Given the description of an element on the screen output the (x, y) to click on. 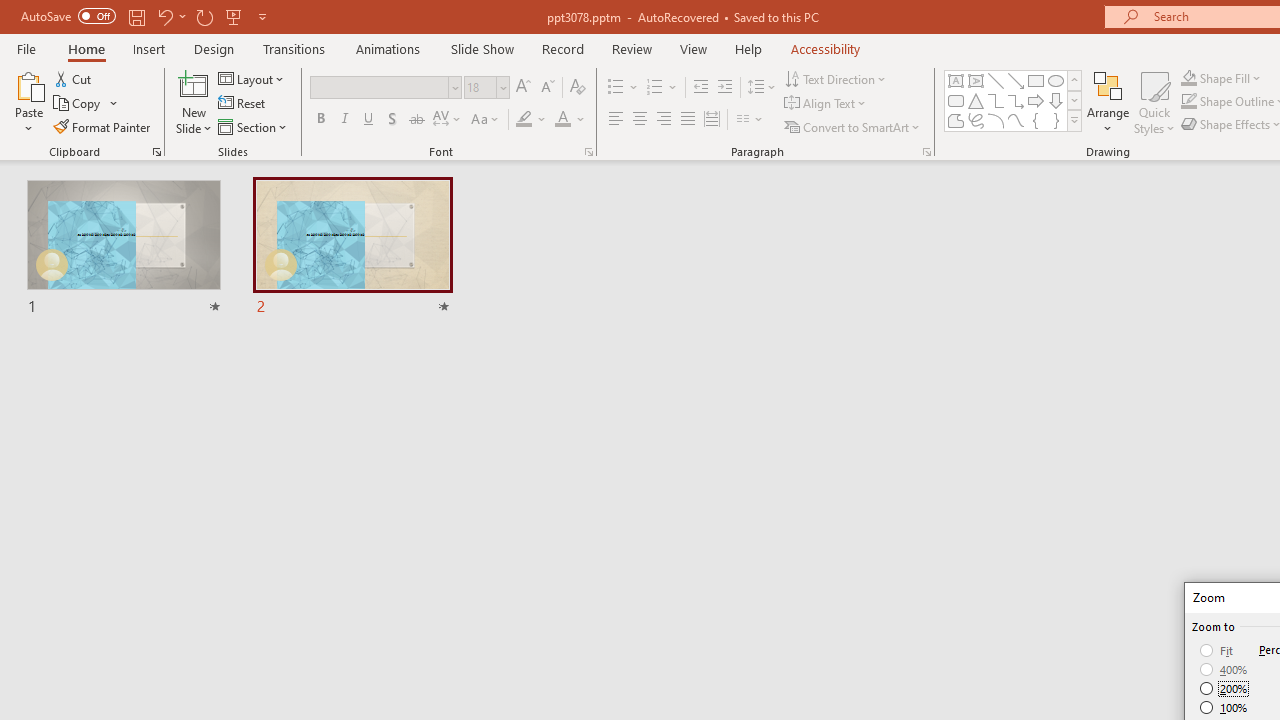
Fit (1217, 650)
